Given the description of an element on the screen output the (x, y) to click on. 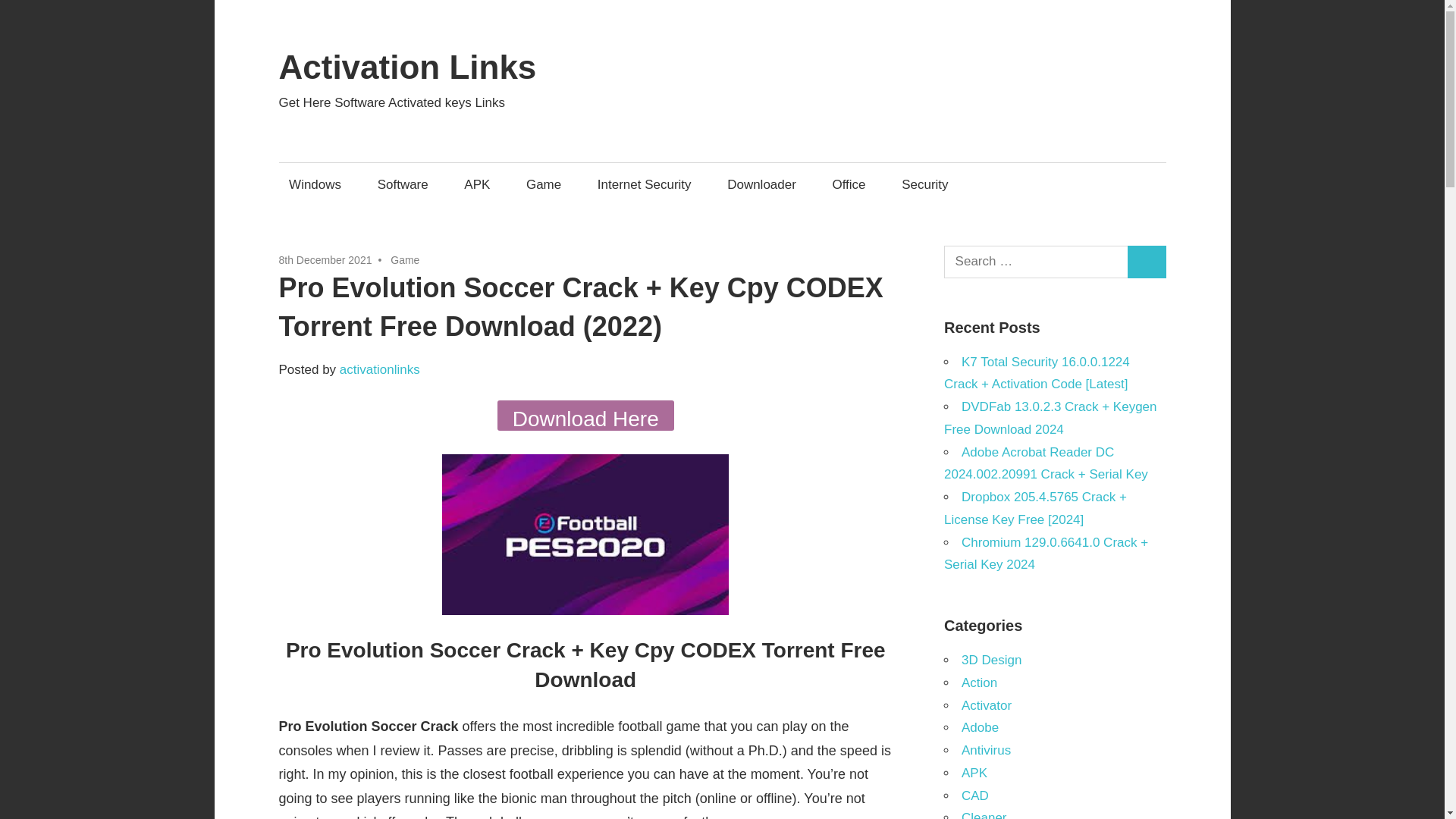
Game (404, 259)
Download Here (585, 415)
Security (925, 184)
Windows (315, 184)
Office (849, 184)
activationlinks (379, 369)
View all posts by activationlinks (379, 369)
APK (477, 184)
8th December 2021 (325, 259)
Game (542, 184)
